Given the description of an element on the screen output the (x, y) to click on. 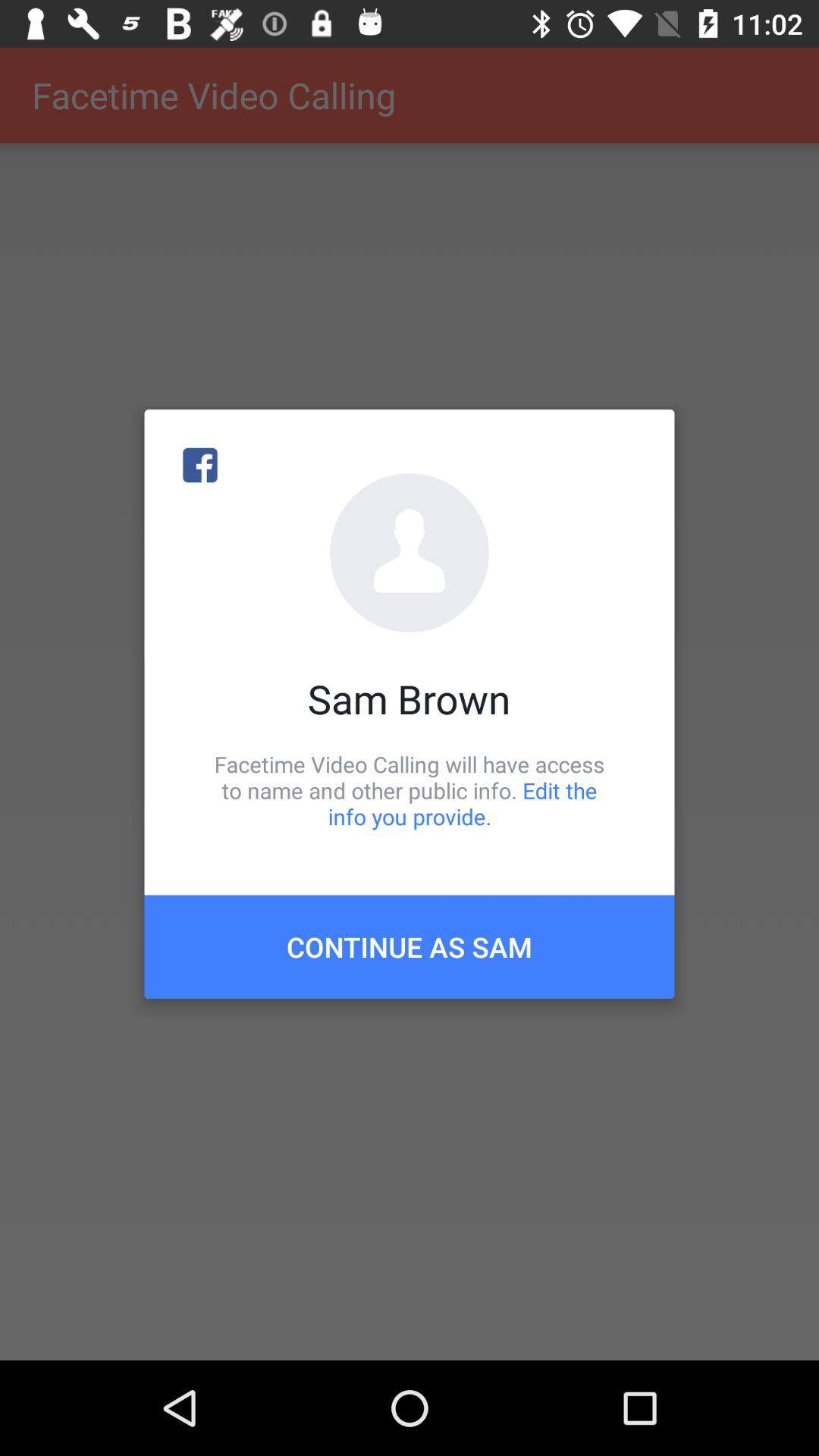
turn off icon above continue as sam item (409, 790)
